Given the description of an element on the screen output the (x, y) to click on. 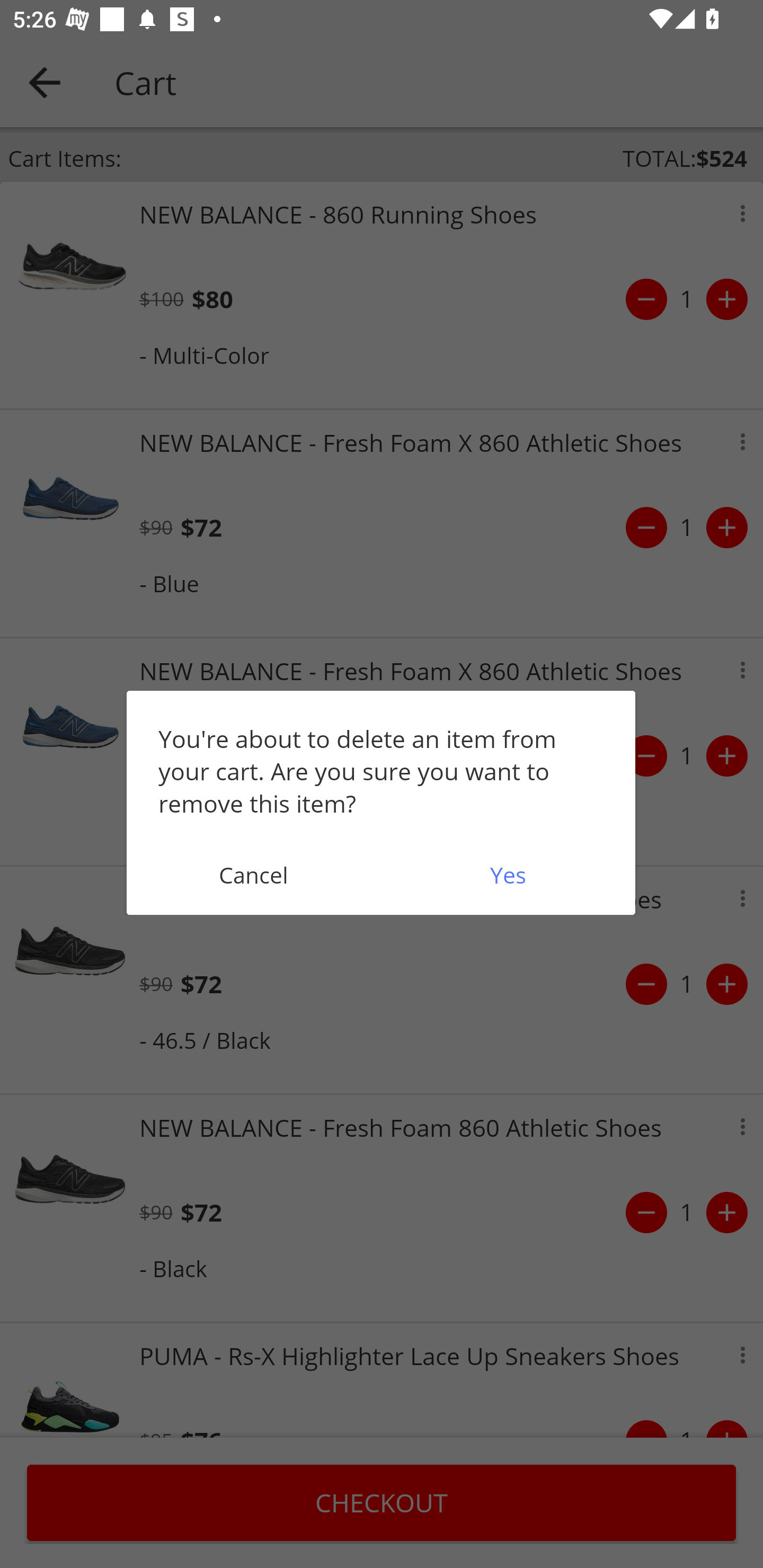
Cancel (253, 874)
Yes (507, 874)
